Given the description of an element on the screen output the (x, y) to click on. 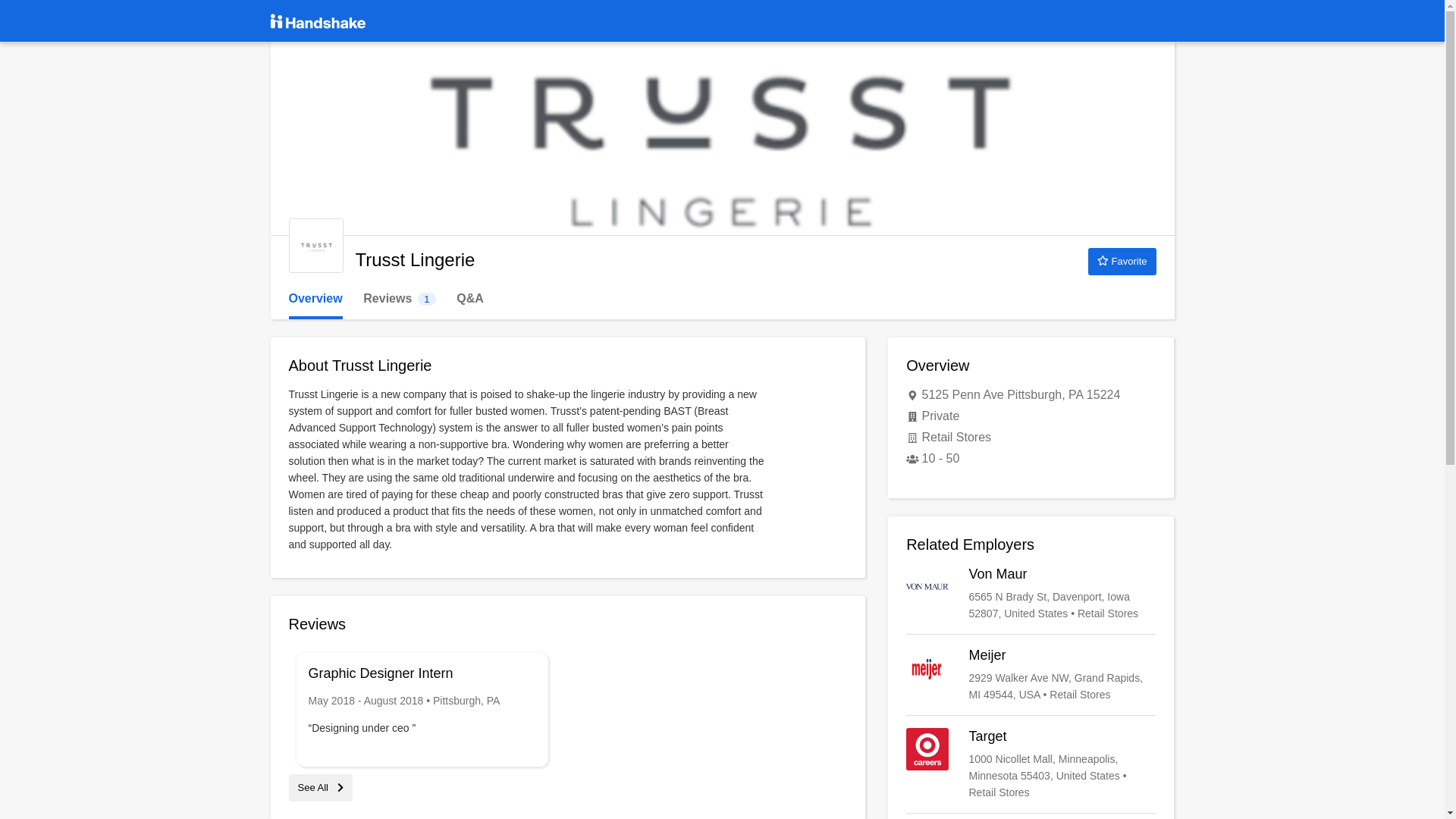
Meijer (1030, 674)
Favorite (1121, 261)
See All (320, 787)
Overview (315, 298)
Trusst Lingerie (398, 298)
Von Maur (315, 245)
Target (1030, 593)
